Given the description of an element on the screen output the (x, y) to click on. 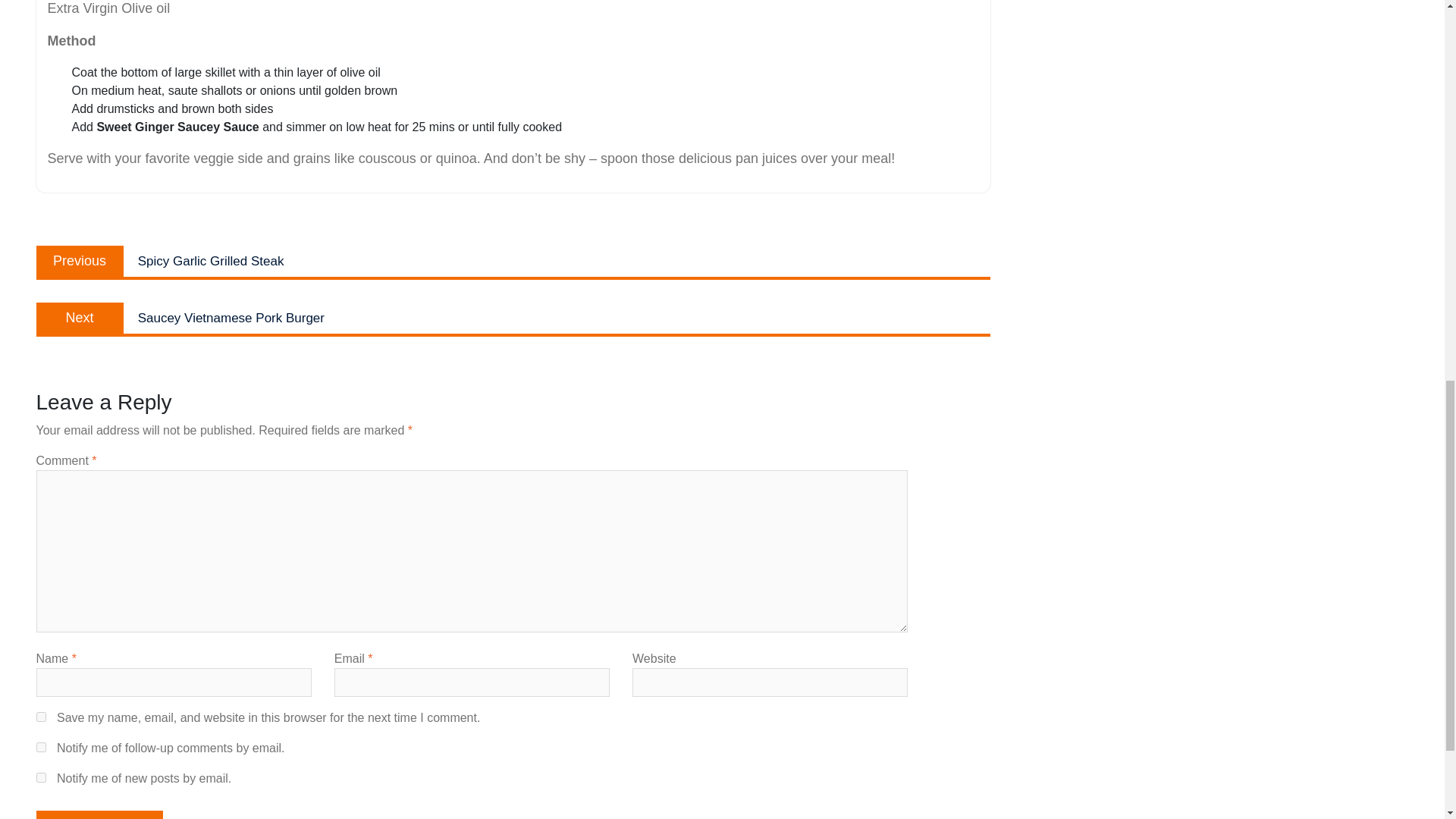
Post Comment (99, 814)
subscribe (513, 260)
yes (41, 747)
Post Comment (41, 716)
subscribe (99, 814)
